Given the description of an element on the screen output the (x, y) to click on. 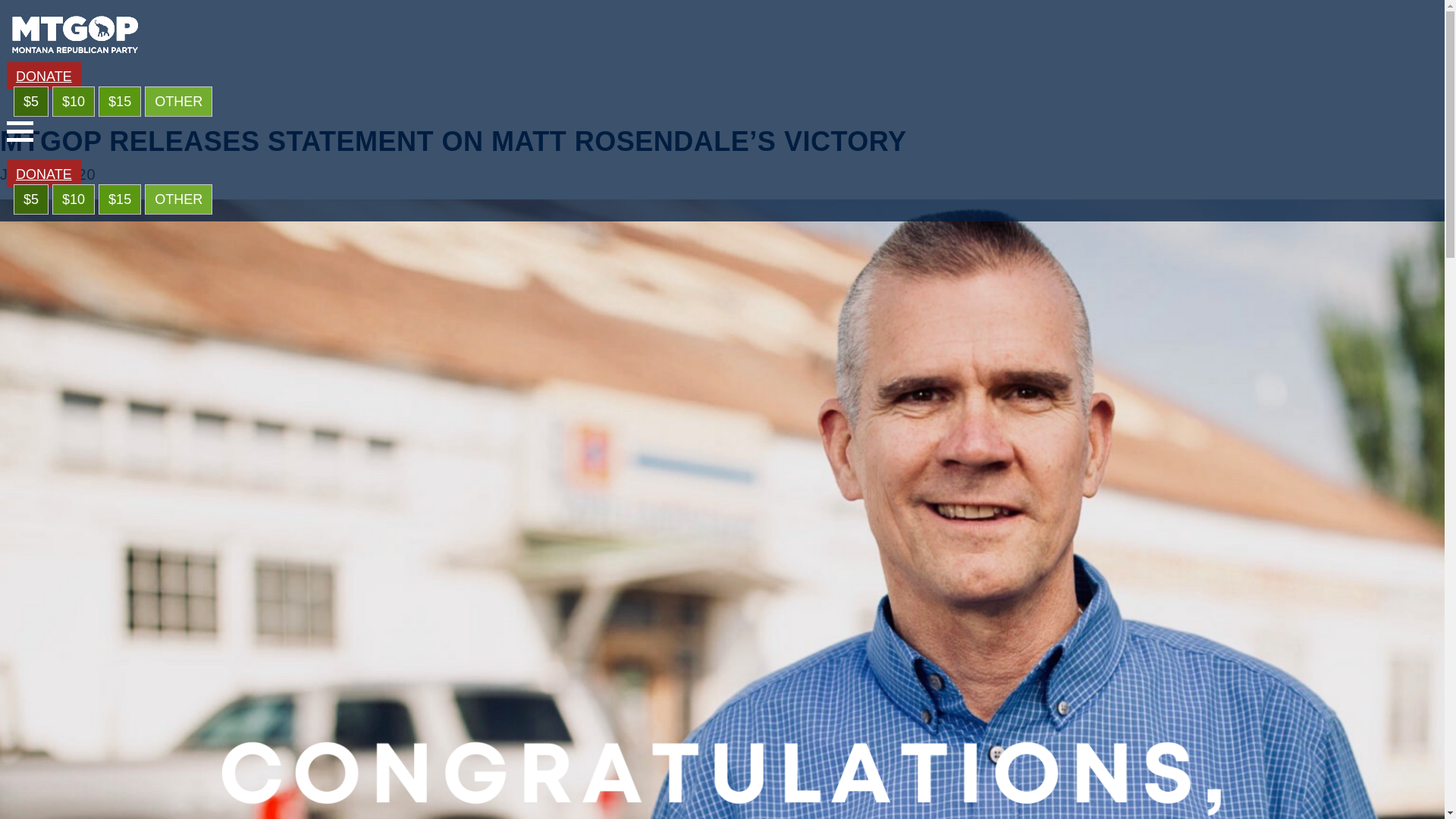
DONATE (44, 75)
